Given the description of an element on the screen output the (x, y) to click on. 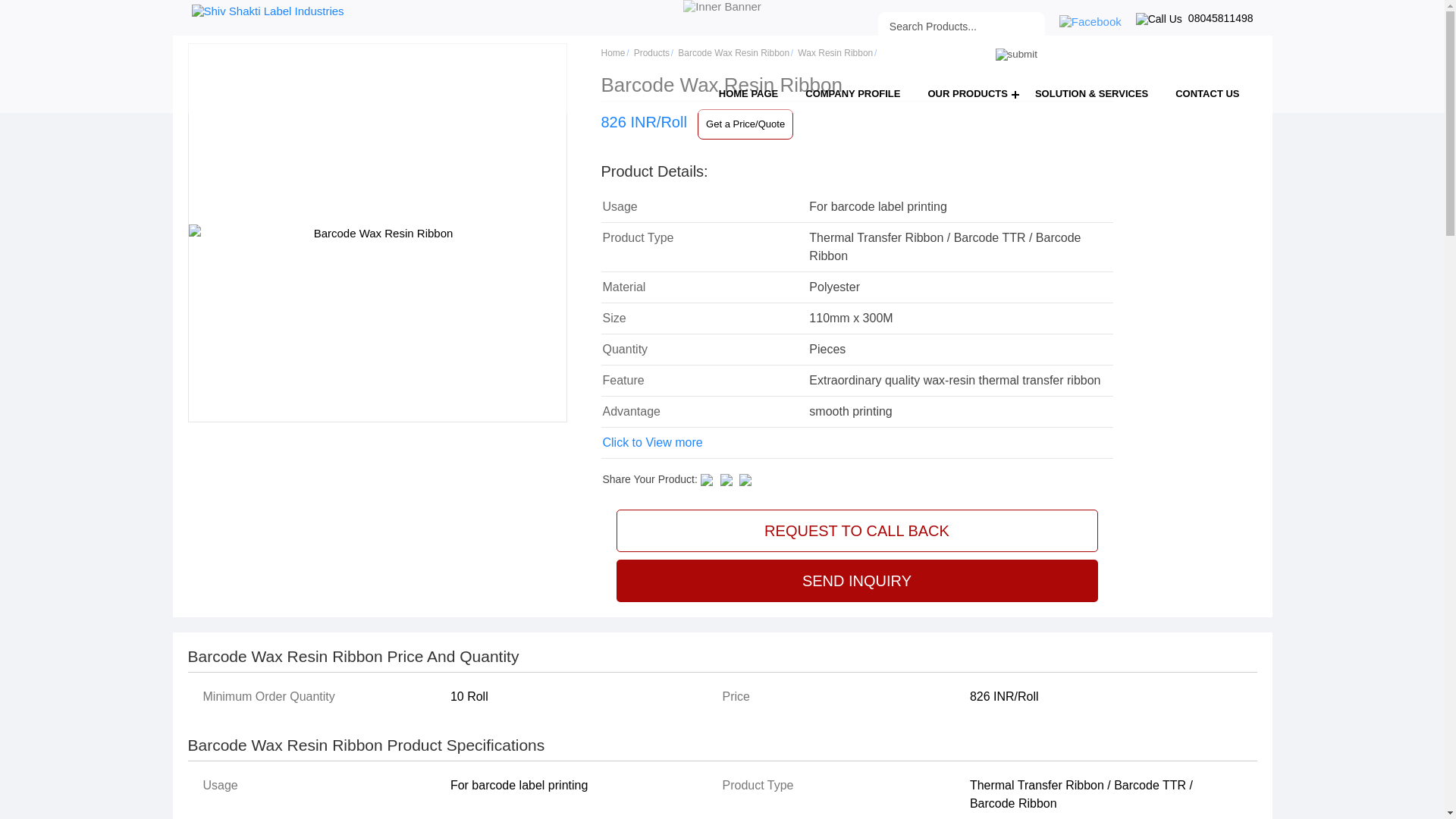
08045811498 (1194, 18)
OUR PRODUCTS (967, 93)
submit (1016, 53)
Search Products... (935, 26)
COMPANY PROFILE (853, 93)
submit (1016, 53)
HOME PAGE (748, 93)
Call Us (1158, 19)
Facebook (1090, 21)
Shiv Shakti Label Industries (266, 10)
